Given the description of an element on the screen output the (x, y) to click on. 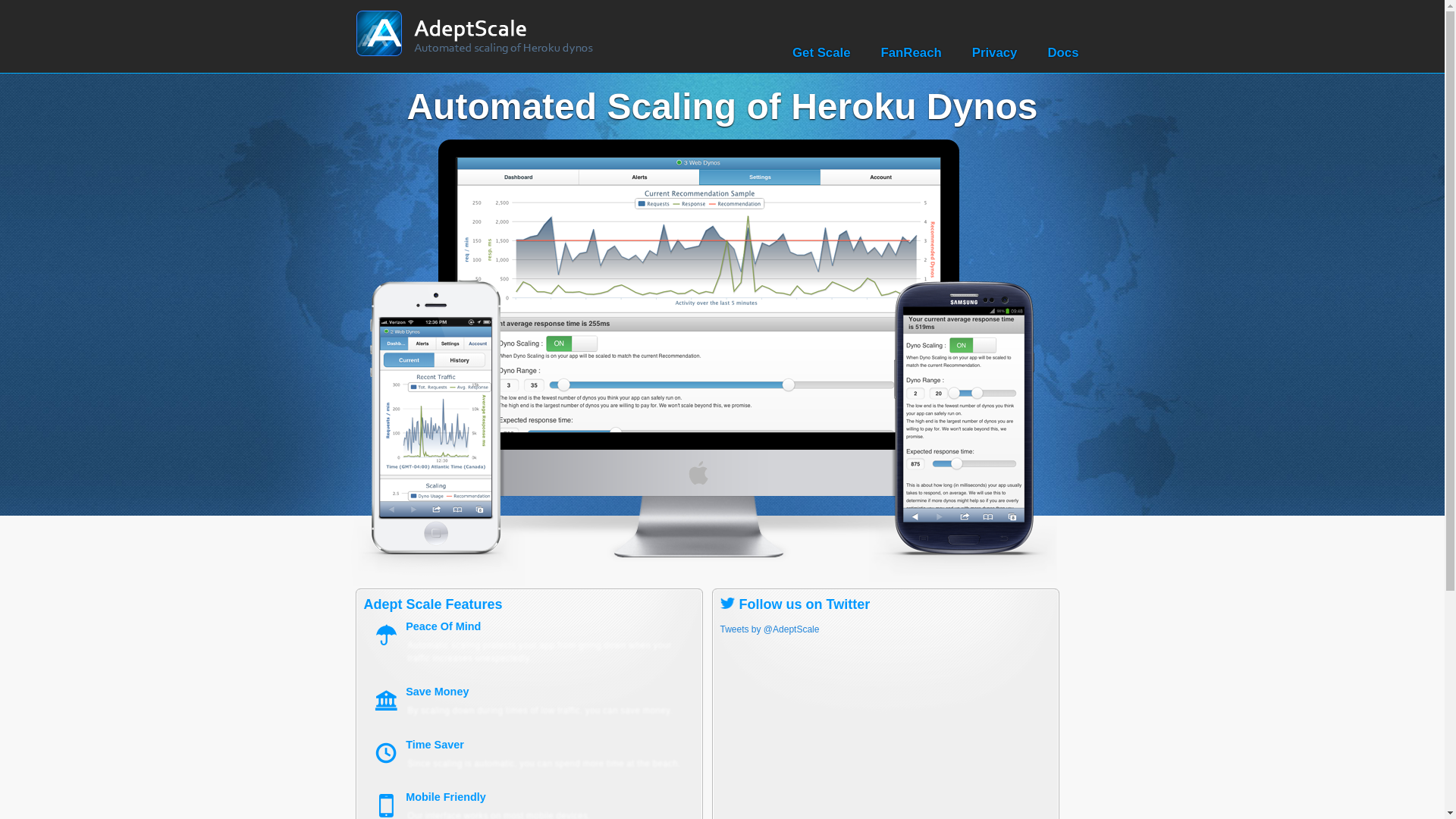
Privacy (994, 52)
Get Scale (821, 52)
Docs (1062, 52)
FanReach (911, 52)
